Given the description of an element on the screen output the (x, y) to click on. 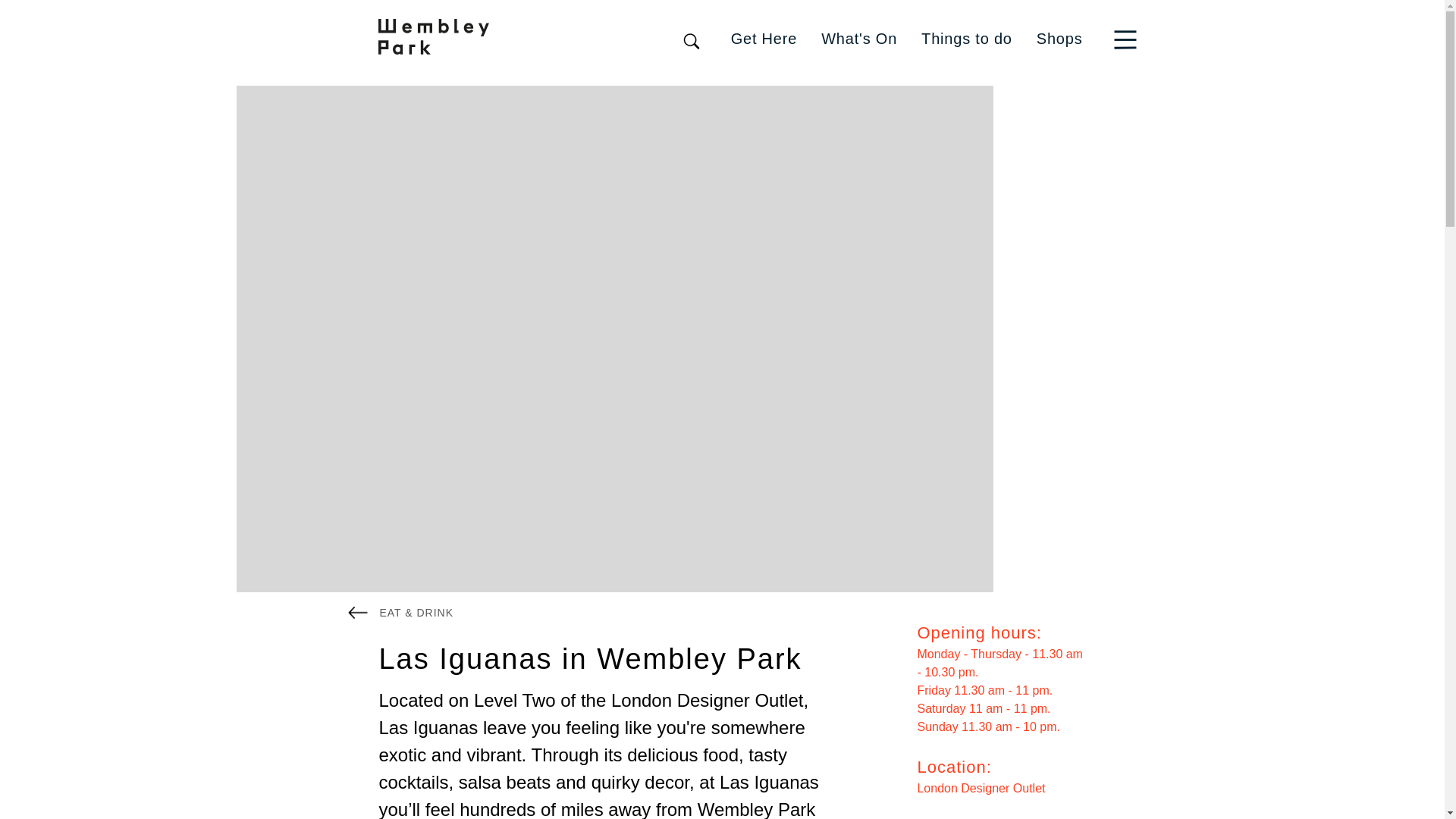
Shops (1059, 38)
Slice 1 Created with Sketch. (1128, 37)
Get Here (763, 38)
Slice 1 Created with Sketch. (1125, 39)
Things to do (966, 38)
What's On (858, 38)
